Given the description of an element on the screen output the (x, y) to click on. 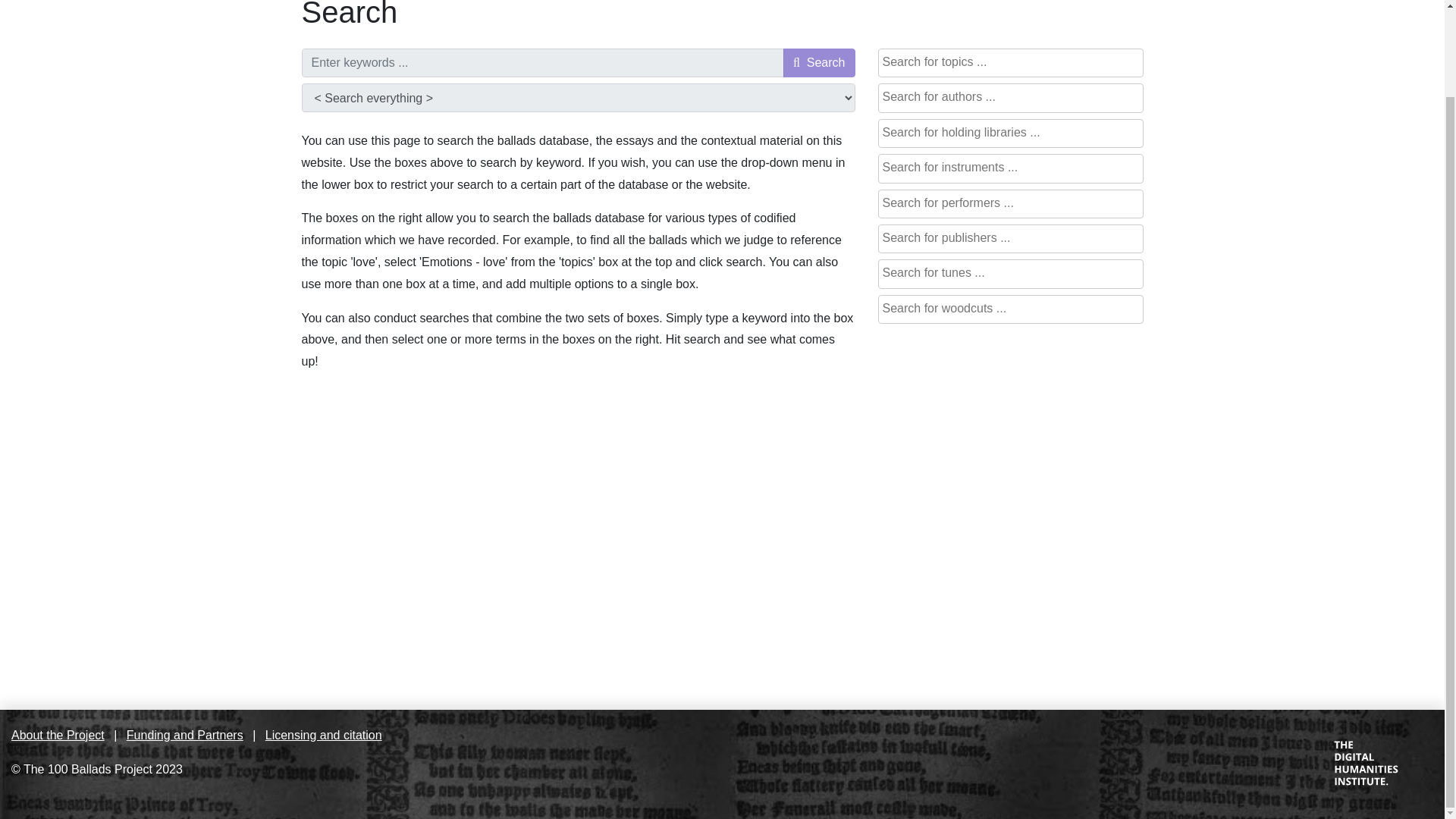
Licensing and citation (322, 735)
About the Project (57, 735)
  Search (819, 62)
Funding and Partners (184, 735)
